Given the description of an element on the screen output the (x, y) to click on. 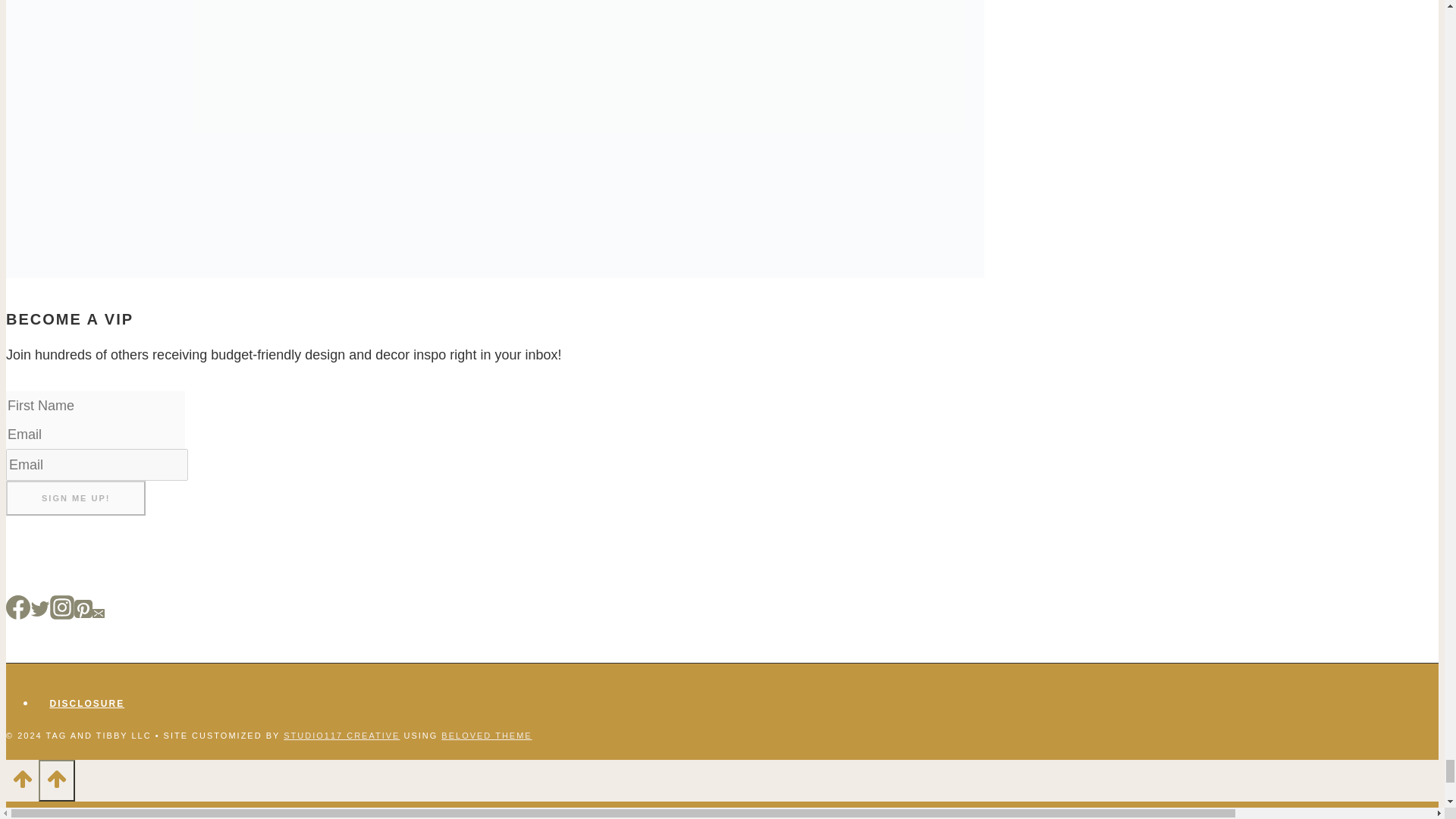
Scroll to top (22, 783)
Facebook (17, 607)
Instagram (61, 607)
Twitter (39, 608)
